Given the description of an element on the screen output the (x, y) to click on. 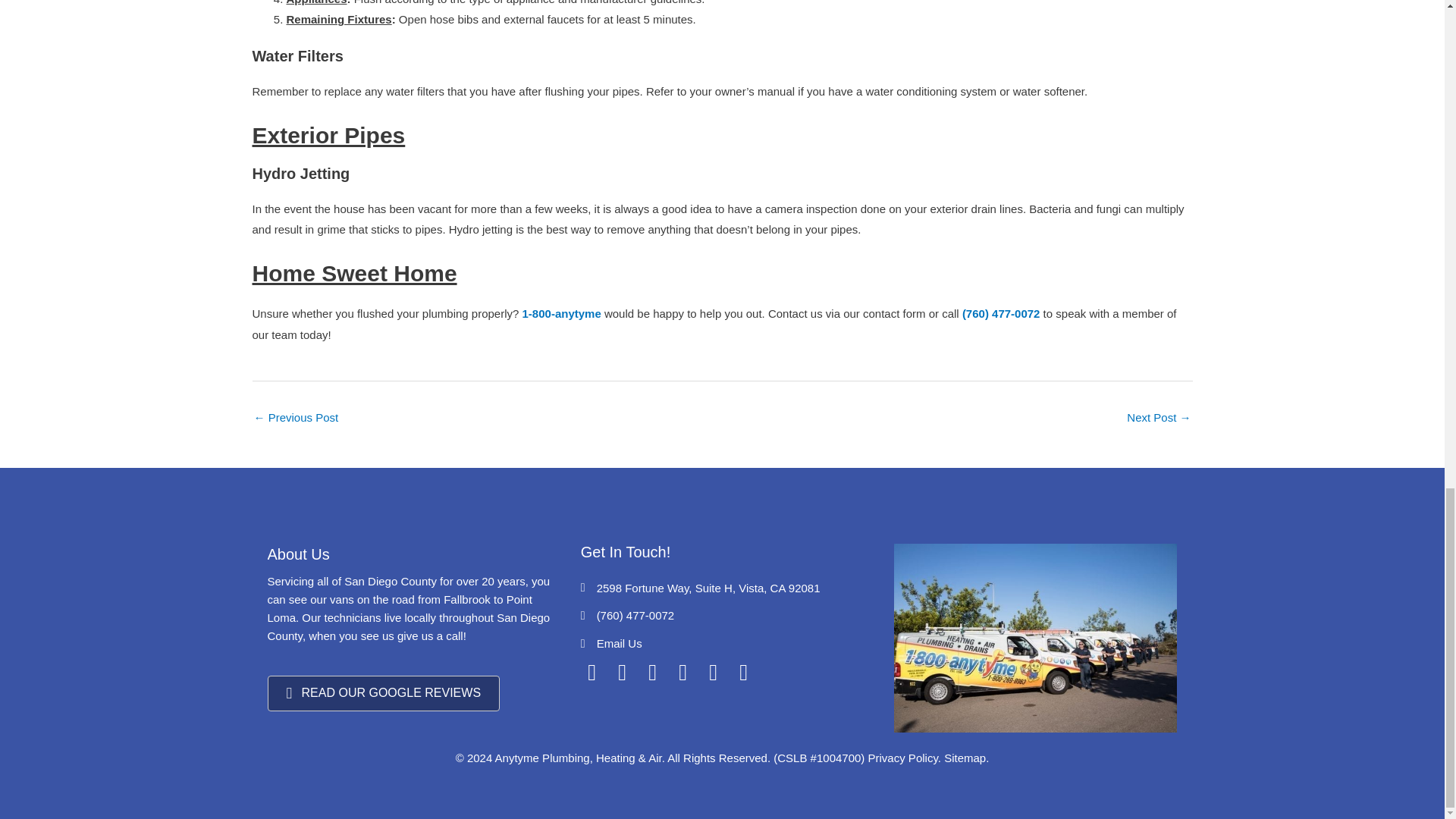
Recirculation Pump (1158, 418)
Facebook (592, 671)
Pinterest (682, 671)
Hiring a Handyman (295, 418)
LinkedIn (743, 671)
Techs with Vans (1034, 637)
Instagram (622, 671)
YouTube (713, 671)
